Given the description of an element on the screen output the (x, y) to click on. 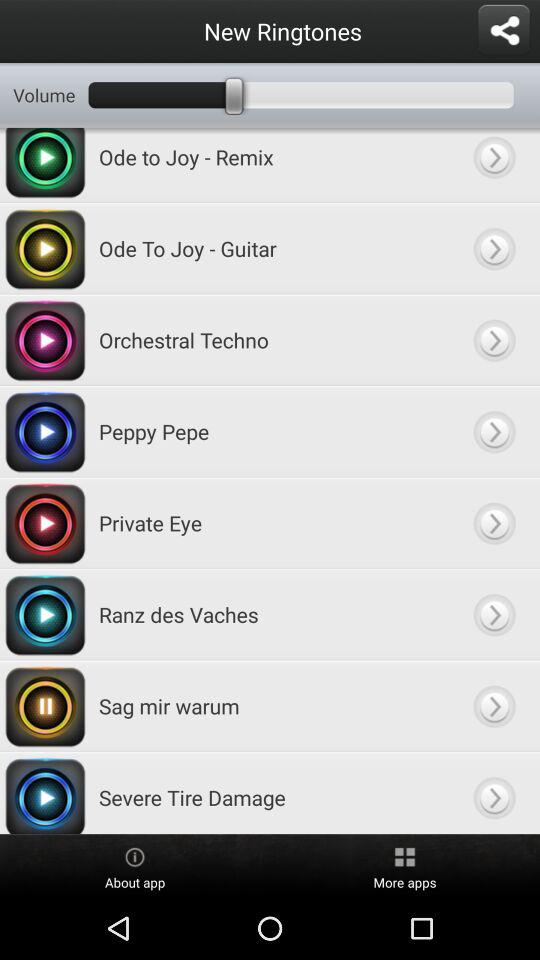
select ringtone (494, 431)
